Given the description of an element on the screen output the (x, y) to click on. 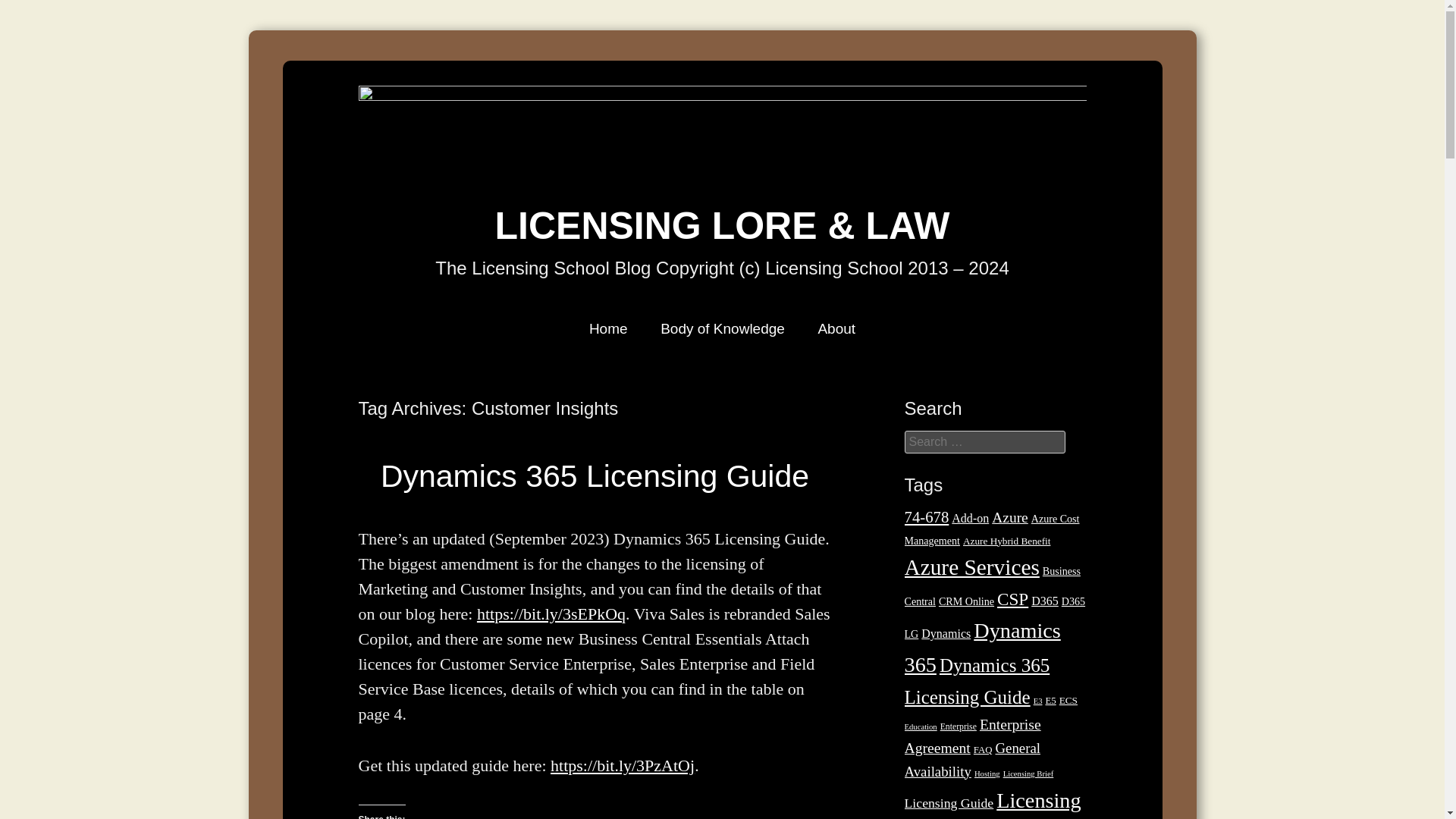
Home (608, 328)
Permalink to Dynamics 365 Licensing Guide (594, 475)
Body of Knowledge (722, 328)
Dynamics 365 Licensing Guide (594, 475)
Skip to content (419, 328)
Skip to content (419, 328)
About (836, 328)
